Given the description of an element on the screen output the (x, y) to click on. 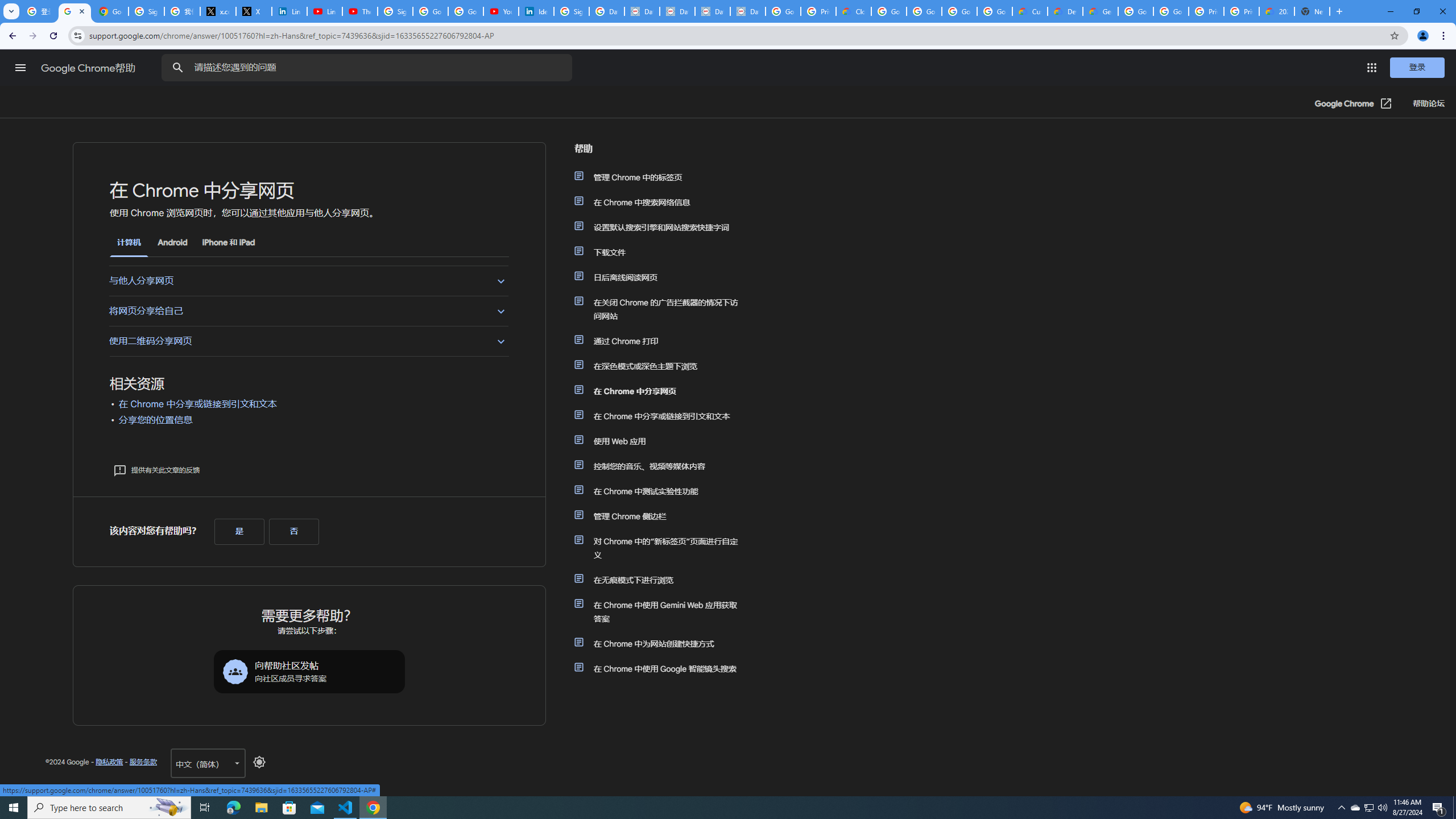
Data Privacy Framework (712, 11)
Gemini for Business and Developers | Google Cloud (1099, 11)
Sign in - Google Accounts (145, 11)
